Given the description of an element on the screen output the (x, y) to click on. 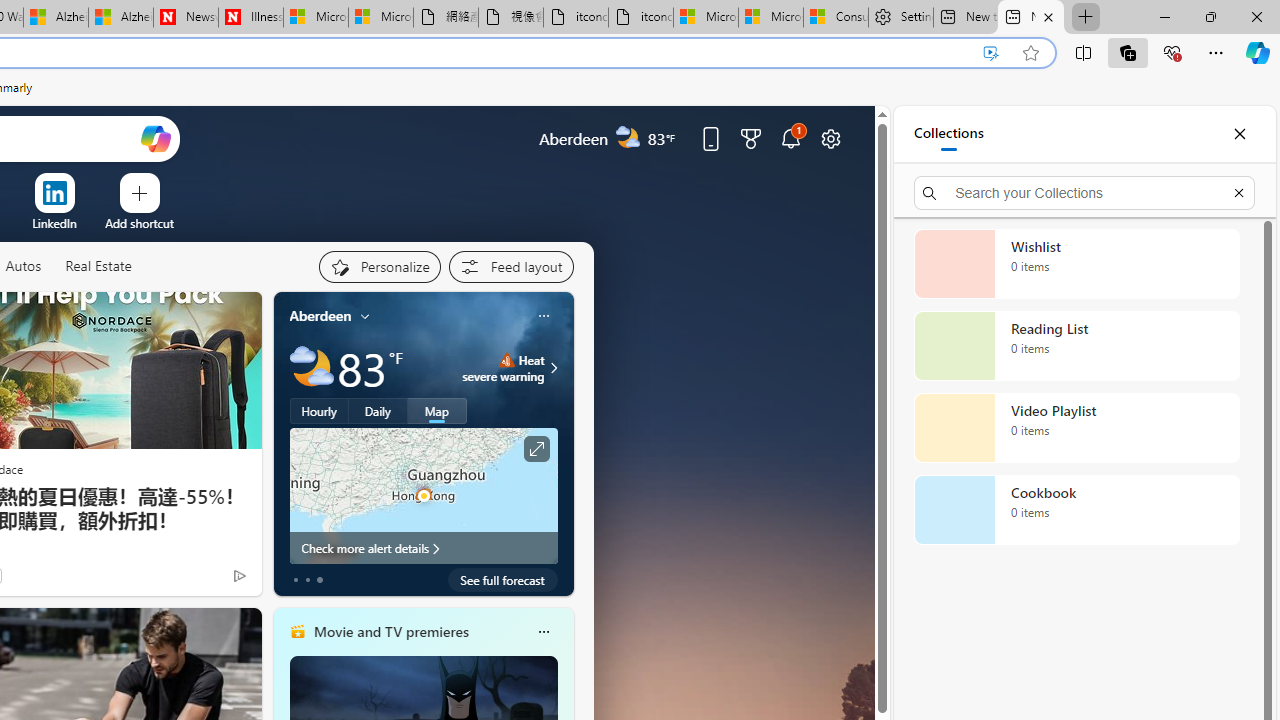
Aberdeen (320, 315)
Cookbook collection, 0 items (1076, 510)
Add a site (139, 223)
Real Estate (98, 265)
tab-2 (319, 579)
Exit search (1238, 192)
My location (365, 315)
